Given the description of an element on the screen output the (x, y) to click on. 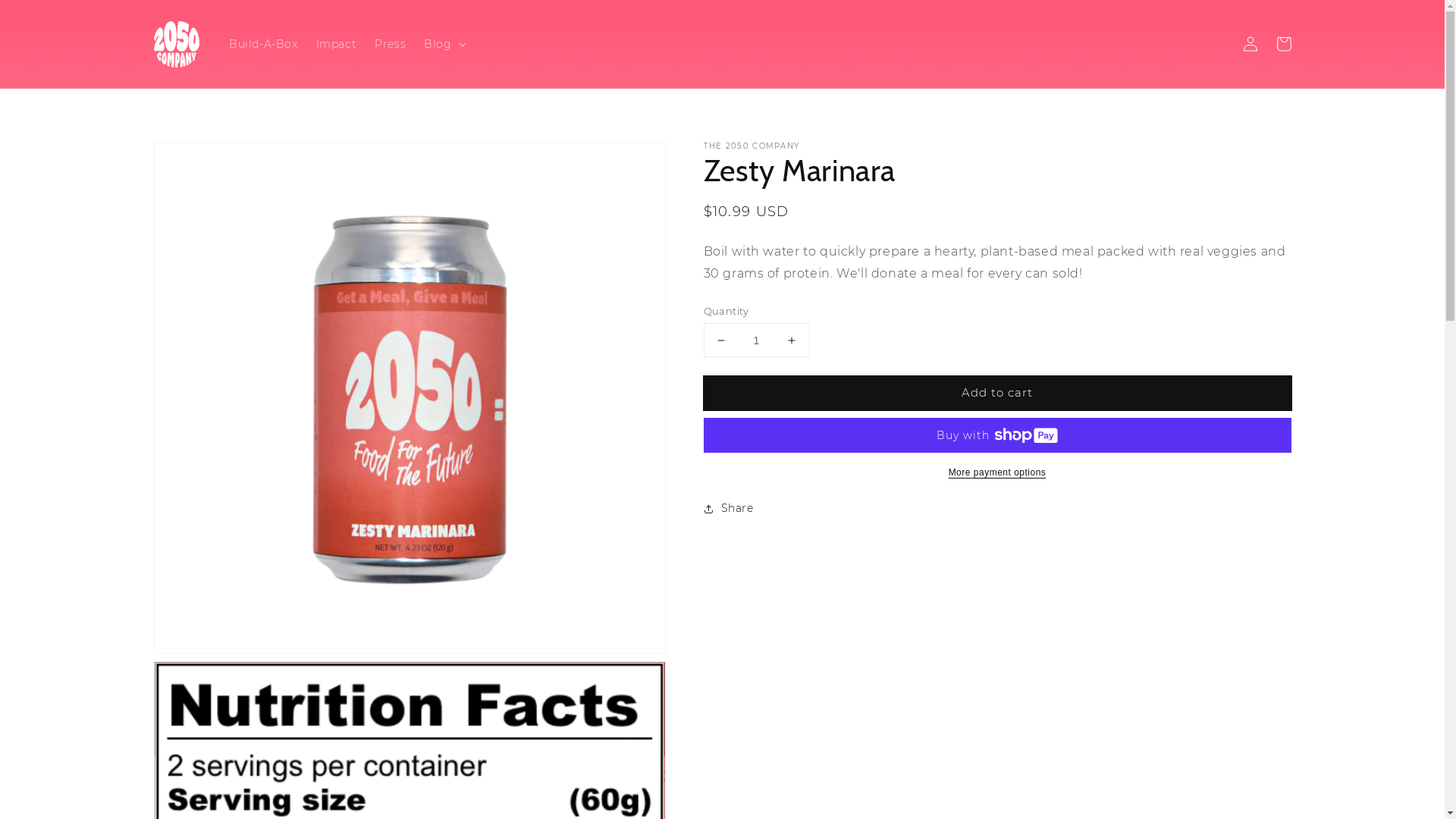
Log in Element type: text (1249, 43)
Decrease quantity for Zesty Marinara Element type: text (720, 339)
https://2050co.com/products/zesty-marinara Element type: text (791, 557)
Press Element type: text (389, 43)
Skip to product information Element type: text (198, 158)
Increase quantity for Zesty Marinara Element type: text (792, 339)
More payment options Element type: text (997, 472)
Build-A-Box Element type: text (263, 43)
Cart Element type: text (1282, 43)
Add to cart Element type: text (997, 393)
Impact Element type: text (336, 43)
